Given the description of an element on the screen output the (x, y) to click on. 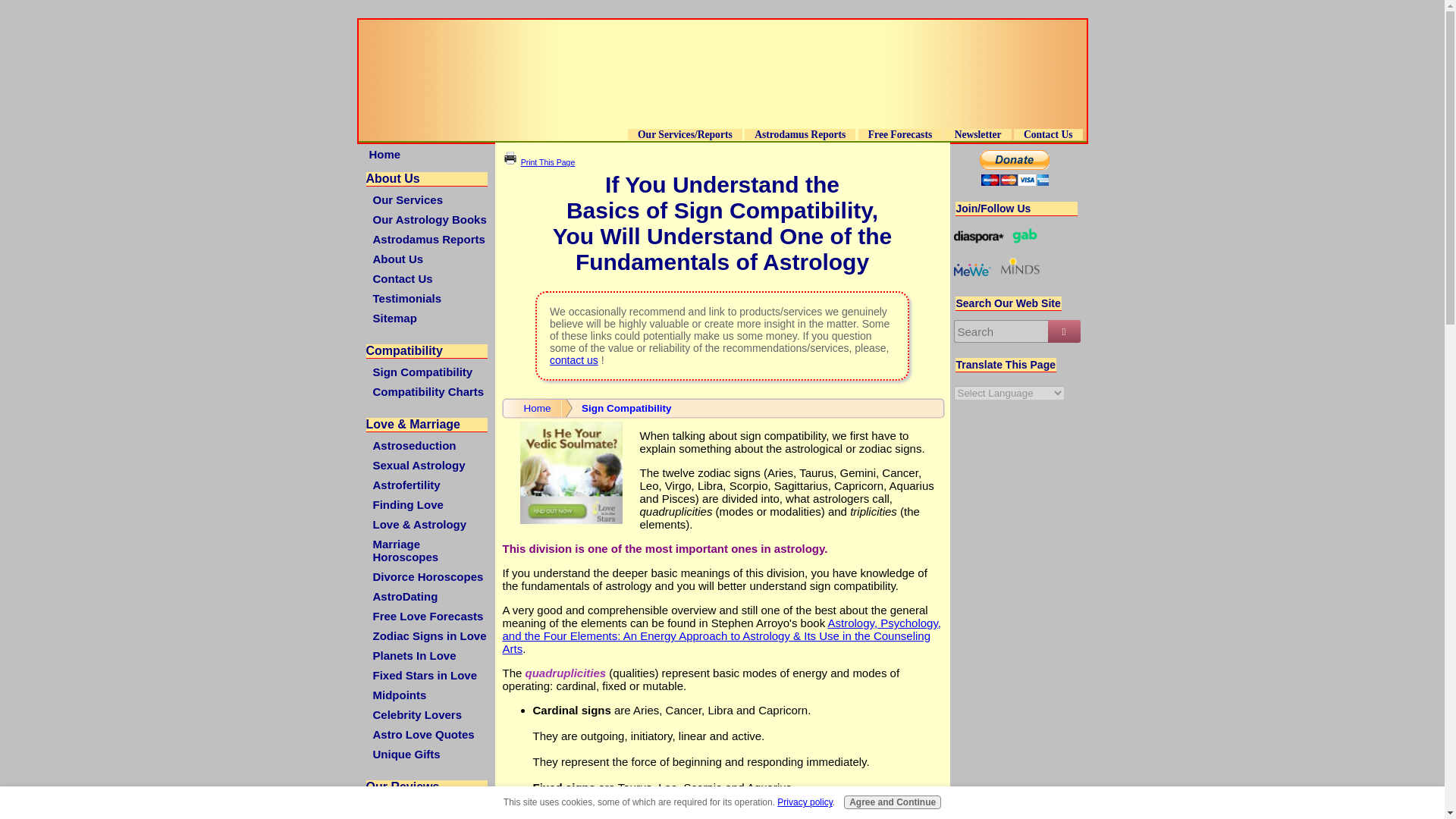
Sexual Astrology (428, 465)
PayPal - The safer, easier way to pay online! (1014, 167)
Contact Us (1048, 134)
Our Services (428, 199)
Marriage Horoscopes (428, 550)
Zodiac Signs in Love (428, 635)
Astrofertility (428, 484)
Home (425, 153)
Home (532, 407)
Sign Compatibility (428, 371)
